Given the description of an element on the screen output the (x, y) to click on. 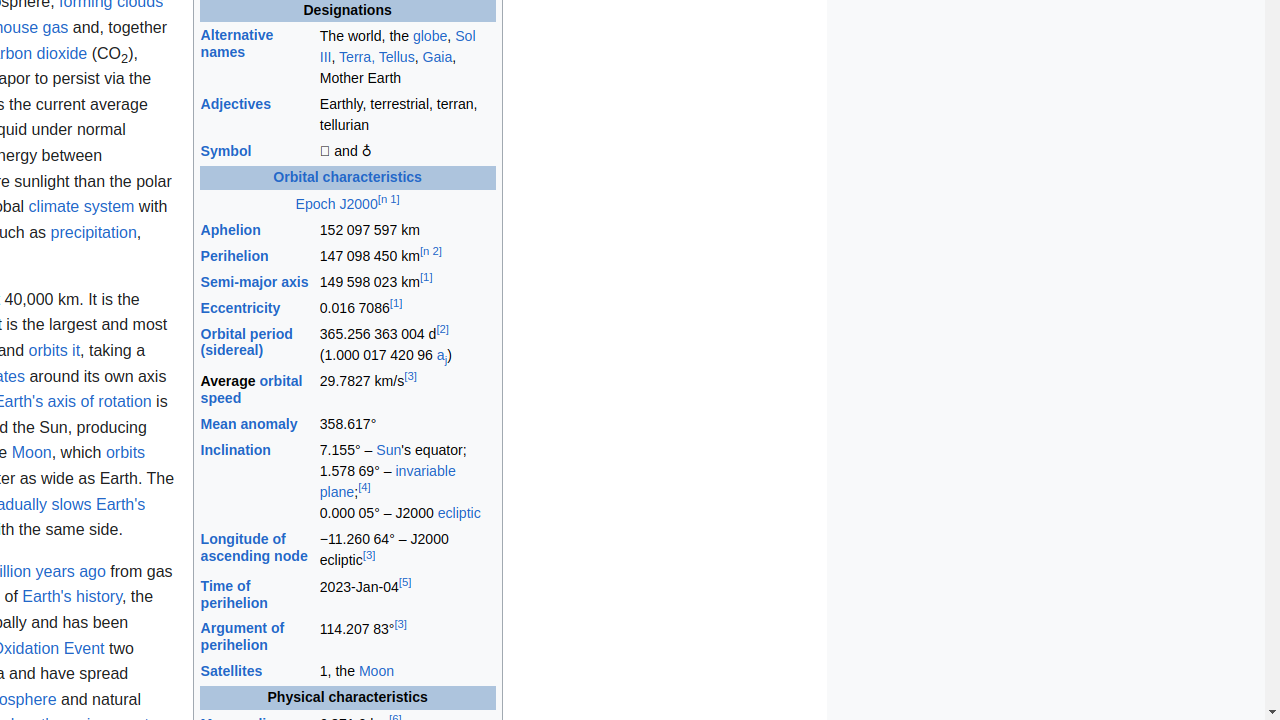
149598023 km[1] Element type: table-cell (407, 282)
114.20783°[3] Element type: table-cell (407, 637)
Semi-major axis Element type: link (254, 281)
Eccentricity Element type: link (240, 308)
orbits Element type: link (125, 453)
